Given the description of an element on the screen output the (x, y) to click on. 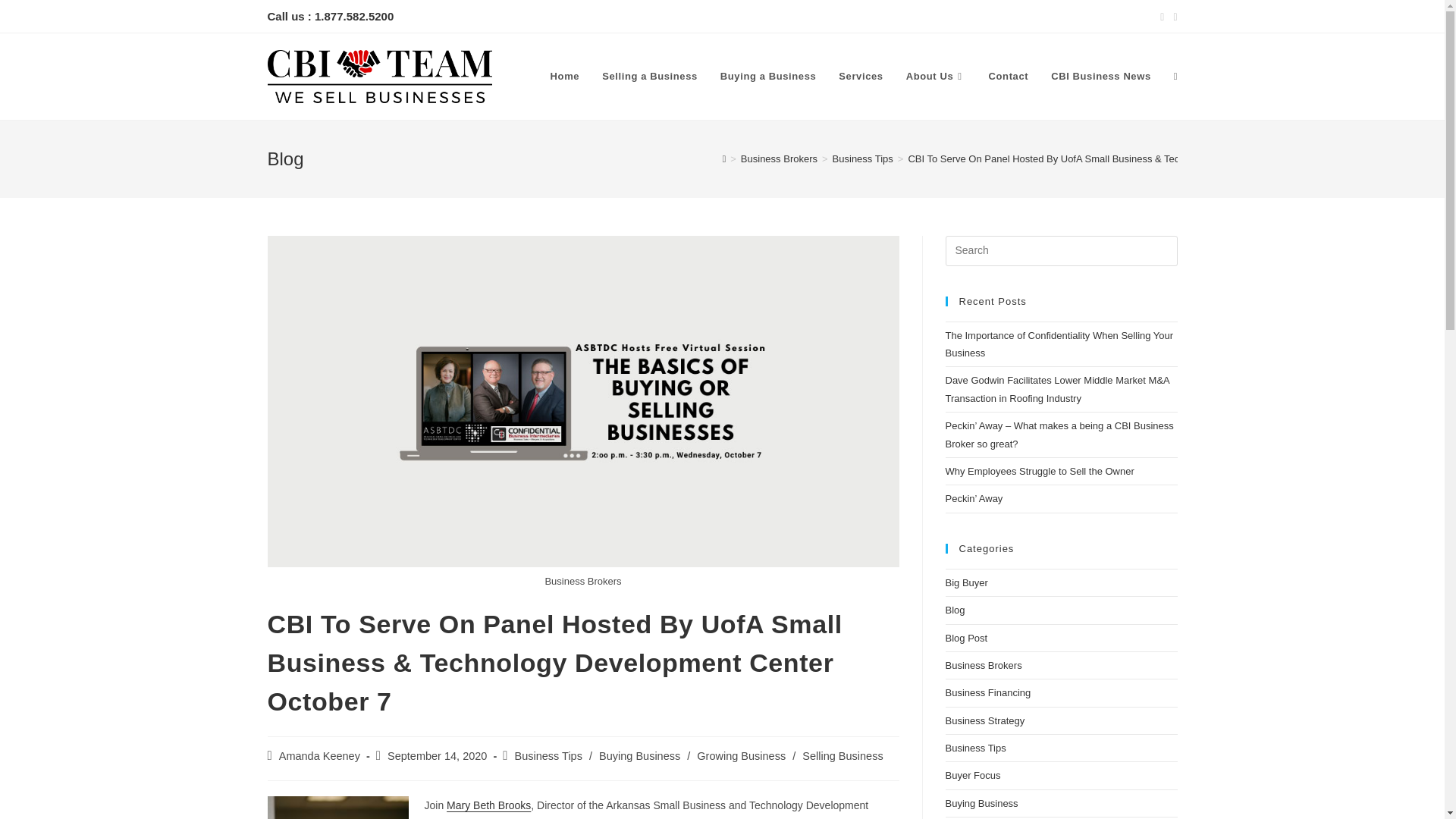
CBI Business News (1100, 76)
Selling a Business (650, 76)
About Us (935, 76)
Buying Business (638, 756)
Home (564, 76)
Amanda Keeney (319, 756)
Growing Business (741, 756)
Business Tips (862, 158)
Services (860, 76)
Contact (1008, 76)
Posts by Amanda Keeney (319, 756)
Buying a Business (768, 76)
Business Tips (546, 756)
Business Brokers (778, 158)
